Given the description of an element on the screen output the (x, y) to click on. 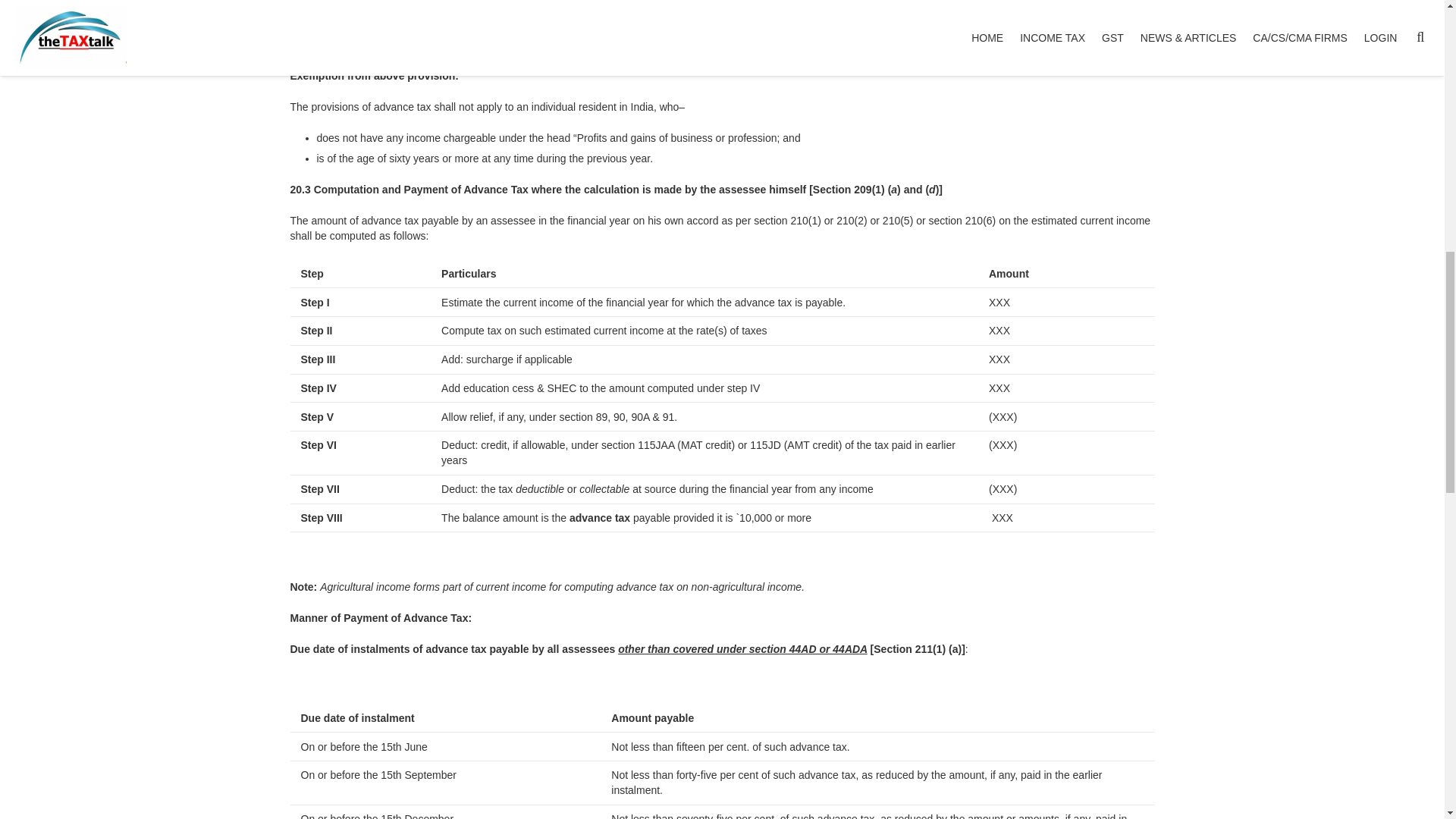
Back to top (1413, 22)
